Given the description of an element on the screen output the (x, y) to click on. 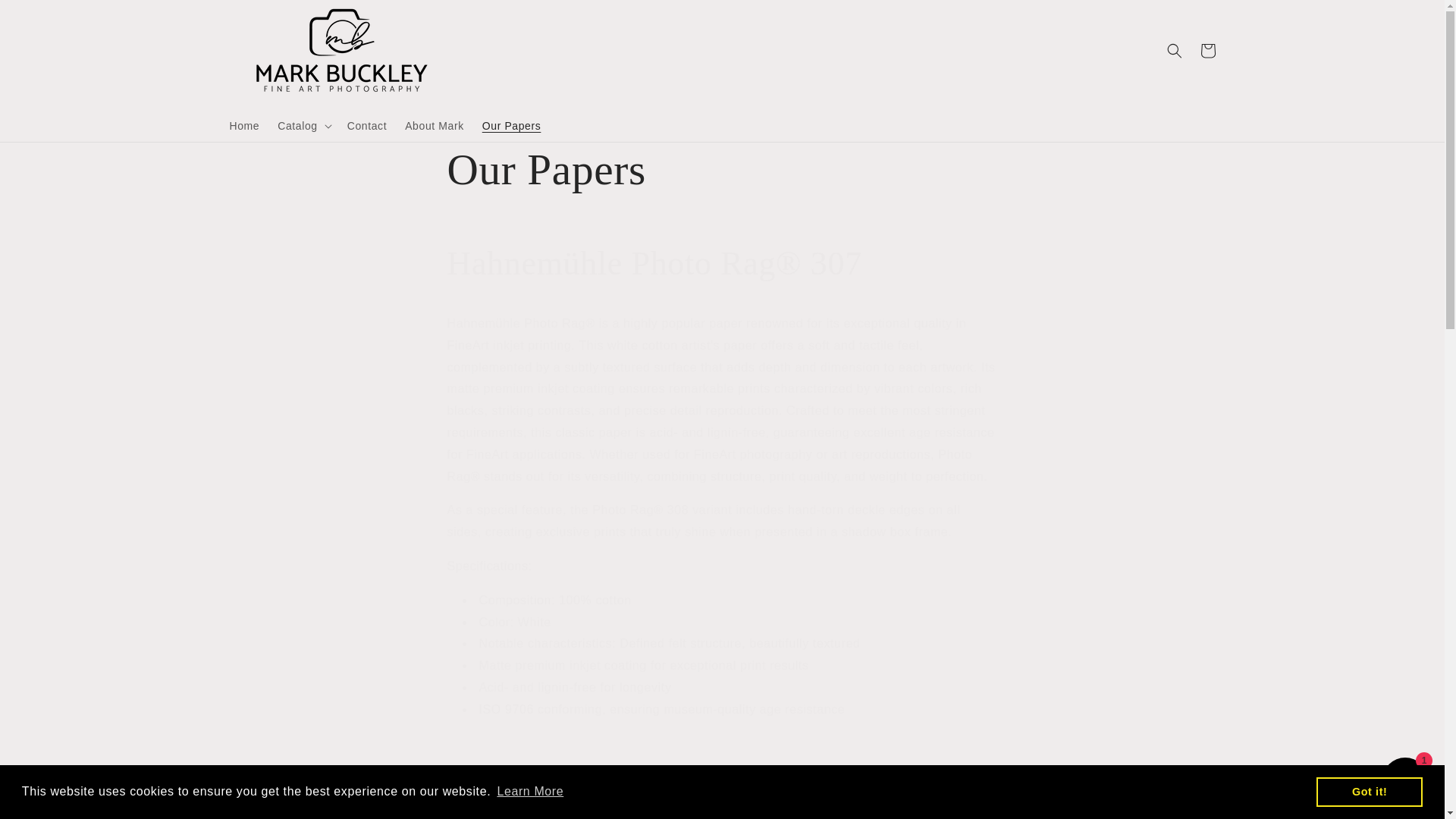
About Mark (434, 124)
Contact (366, 124)
Shopify online store chat (1404, 781)
Learn More (530, 791)
Got it! (1369, 791)
Cart (1207, 50)
Home (243, 124)
Our Papers (511, 124)
Our Papers (721, 170)
Skip to content (45, 17)
